Given the description of an element on the screen output the (x, y) to click on. 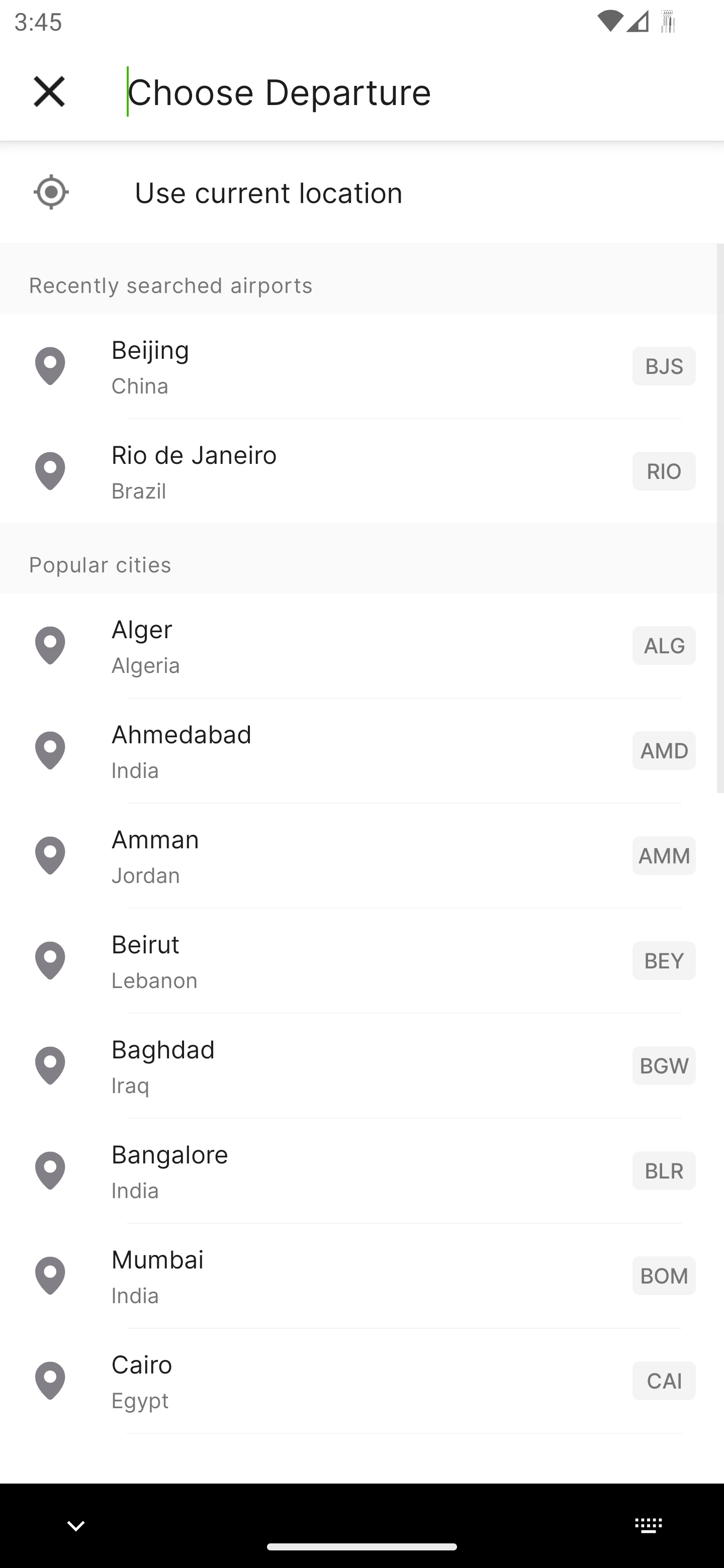
Choose Departure (279, 91)
Use current location (362, 192)
Recently searched airports Beijing China BJS (362, 330)
Recently searched airports (362, 278)
Rio de Janeiro Brazil RIO (362, 470)
Popular cities Alger Algeria ALG (362, 610)
Popular cities (362, 558)
Ahmedabad India AMD (362, 749)
Amman Jordan AMM (362, 854)
Beirut Lebanon BEY (362, 959)
Baghdad Iraq BGW (362, 1064)
Bangalore India BLR (362, 1170)
Mumbai India BOM (362, 1275)
Cairo Egypt CAI (362, 1380)
